Given the description of an element on the screen output the (x, y) to click on. 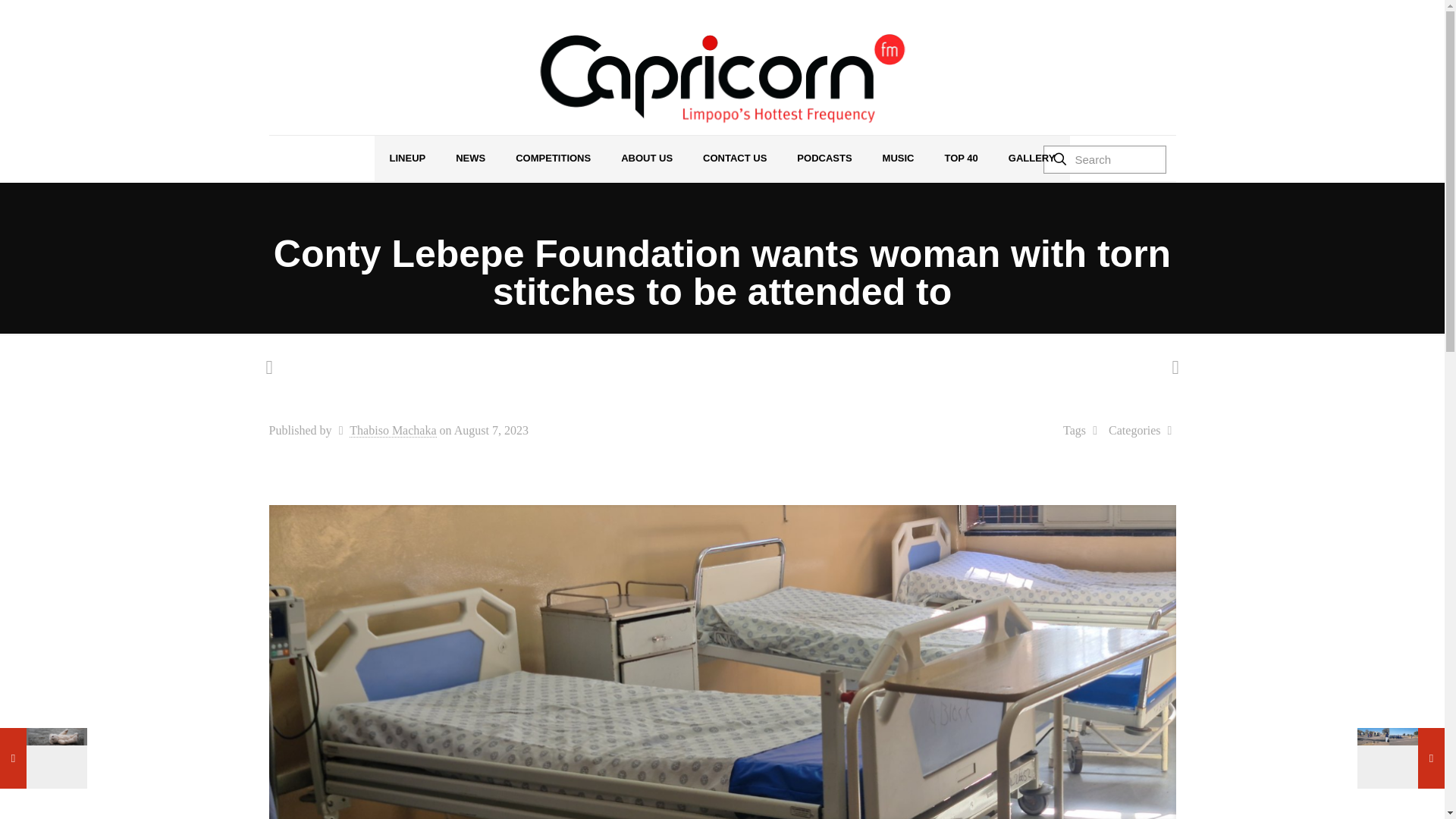
MUSIC (898, 157)
NEWS (470, 157)
TOP 40 (960, 157)
LINEUP (407, 157)
CONTACT US (734, 157)
GALLERY (1031, 157)
PODCASTS (823, 157)
COMPETITIONS (552, 157)
ABOUT US (646, 157)
Capricorn FM (721, 78)
